Given the description of an element on the screen output the (x, y) to click on. 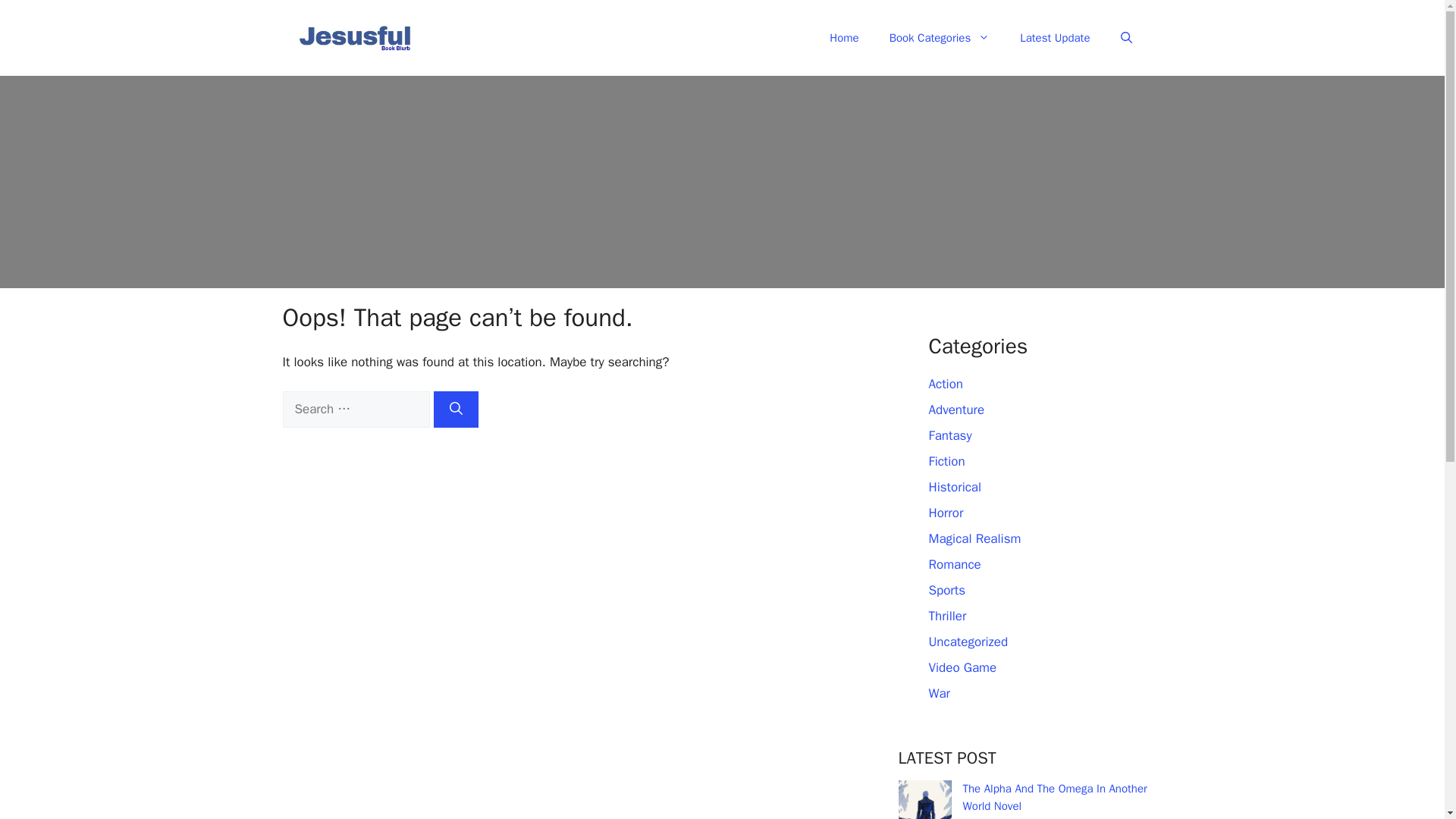
Video Game (961, 667)
Sports (946, 590)
Action (945, 383)
Book Categories (940, 37)
Latest Update (1054, 37)
The Alpha And The Omega In Another World Novel (1054, 797)
Uncategorized (967, 641)
Fiction (945, 461)
Search for: (355, 409)
Adventure (956, 409)
Historical (954, 487)
Romance (953, 564)
War (939, 693)
Horror (945, 512)
